Given the description of an element on the screen output the (x, y) to click on. 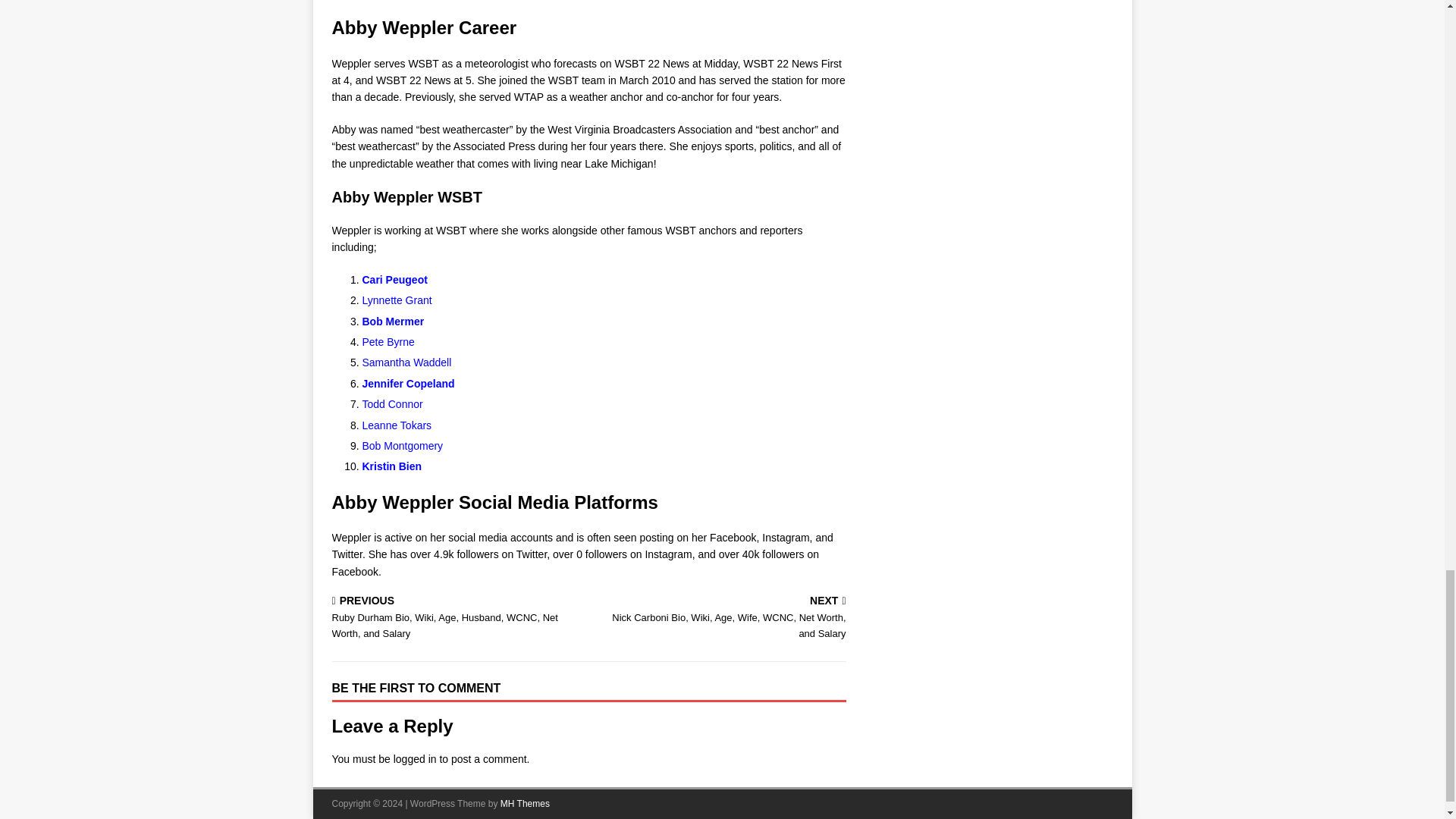
MH Themes (525, 803)
Jennifer Copeland (408, 383)
Kristin Bien (392, 466)
Cari Peugeot  (396, 279)
logged in (414, 758)
Bob Mermer (393, 321)
